Given the description of an element on the screen output the (x, y) to click on. 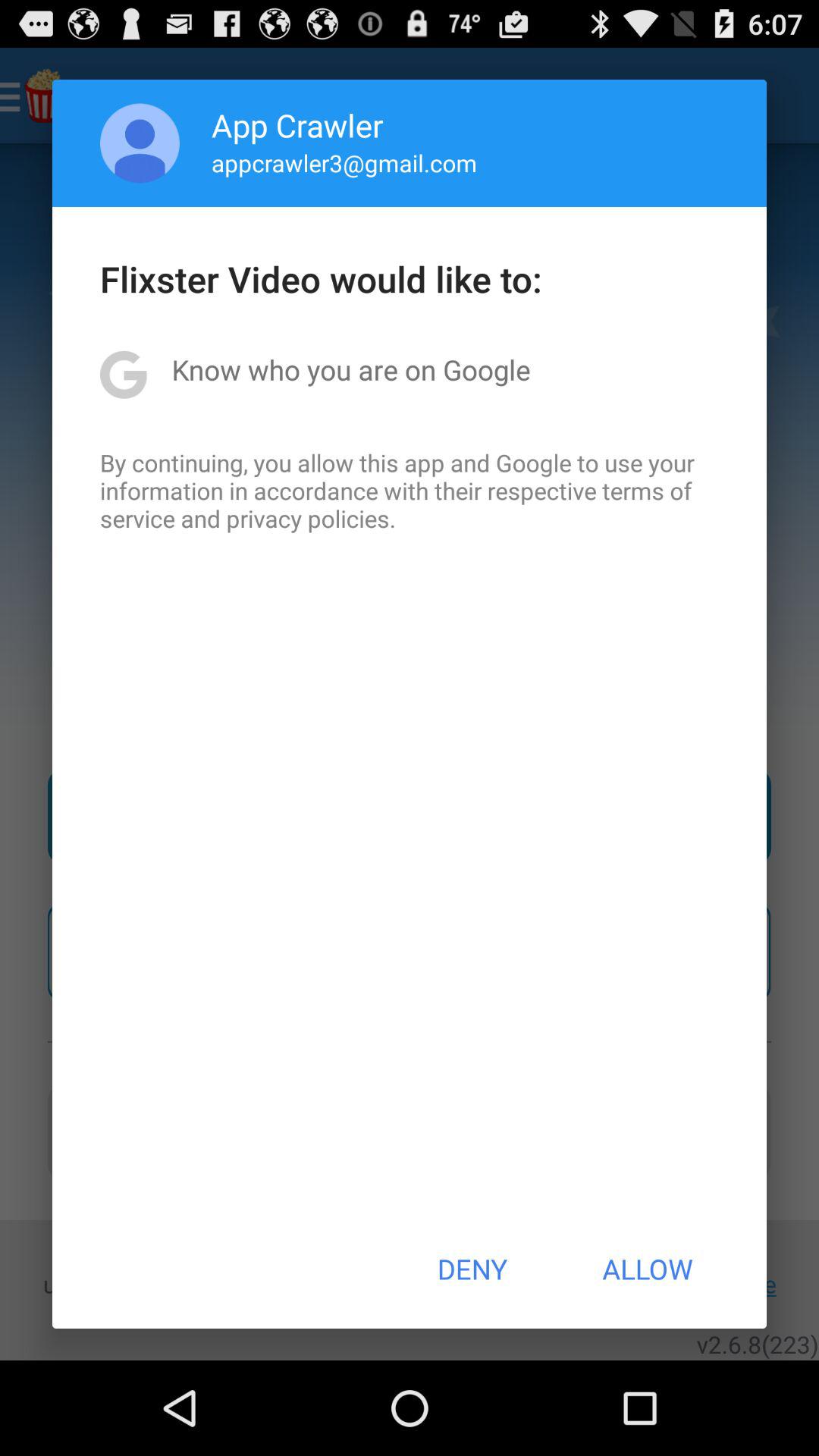
choose appcrawler3@gmail.com (344, 162)
